Given the description of an element on the screen output the (x, y) to click on. 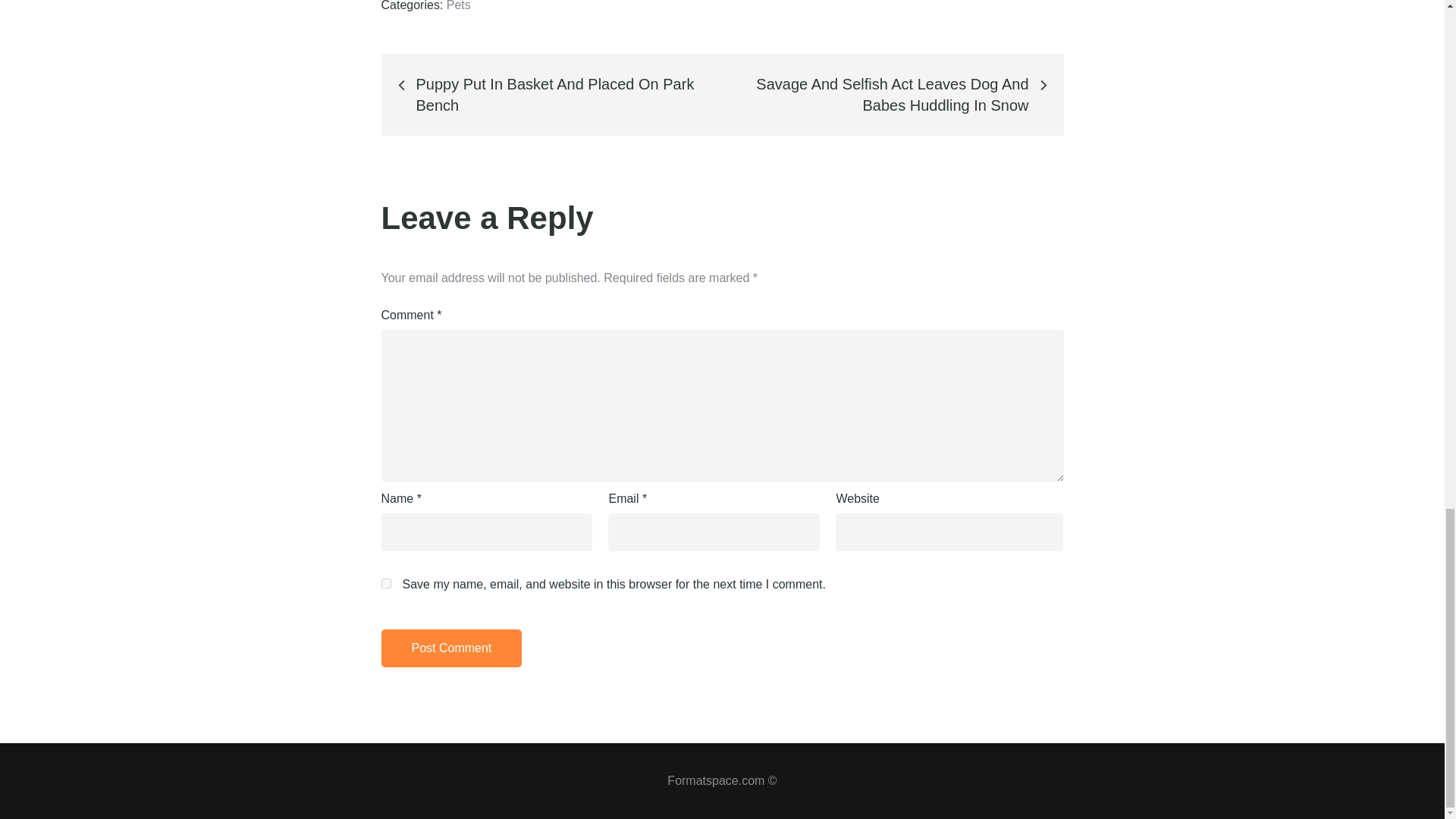
Pets (458, 5)
Post Comment (450, 648)
Post Comment (450, 648)
yes (385, 583)
